Given the description of an element on the screen output the (x, y) to click on. 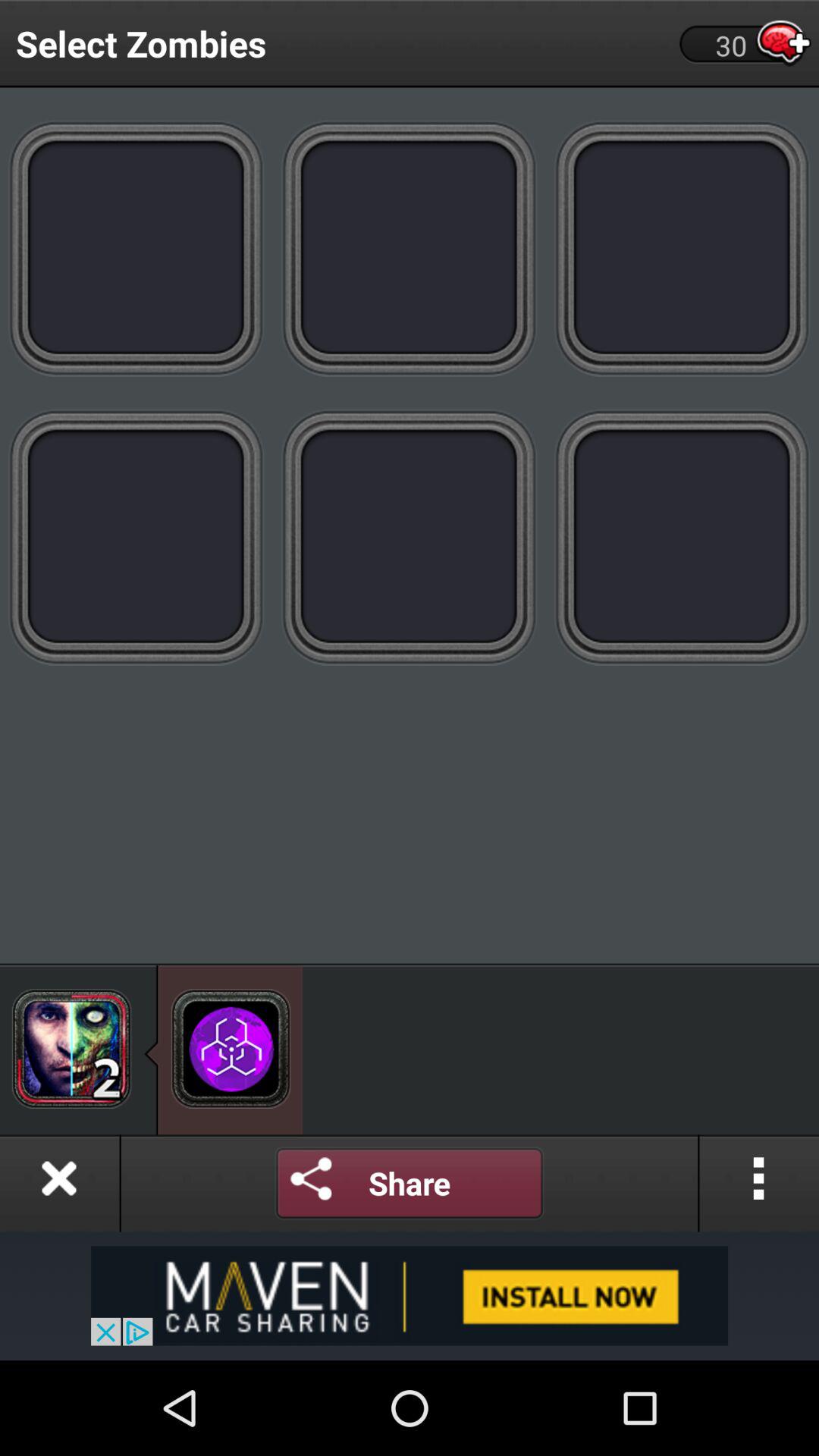
select character (71, 1048)
